Given the description of an element on the screen output the (x, y) to click on. 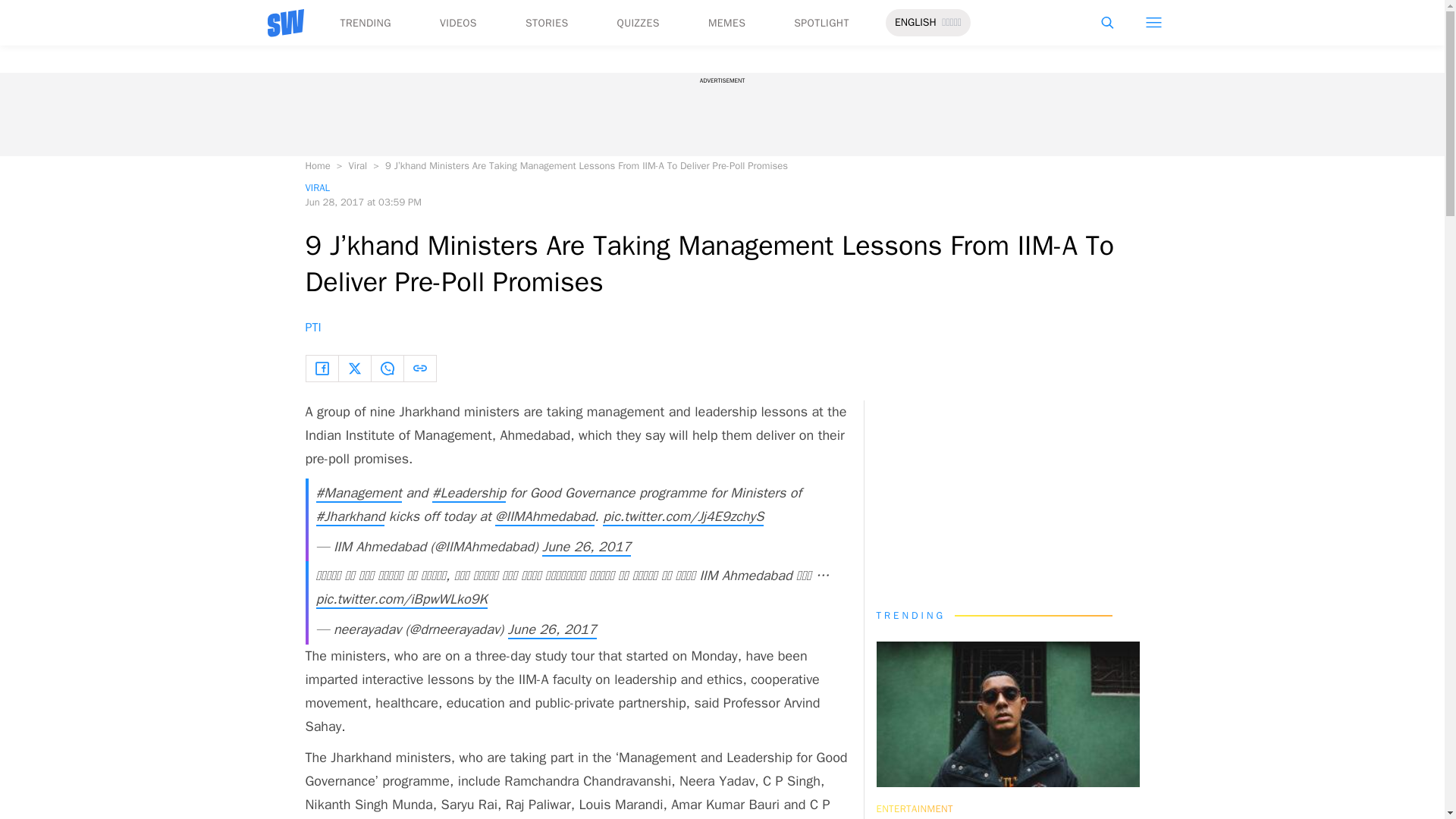
QUIZZES (638, 22)
STORIES (547, 22)
ENGLISH (915, 22)
TRENDING (364, 22)
VIDEOS (458, 22)
MEMES (726, 22)
SPOTLIGHT (820, 22)
